Given the description of an element on the screen output the (x, y) to click on. 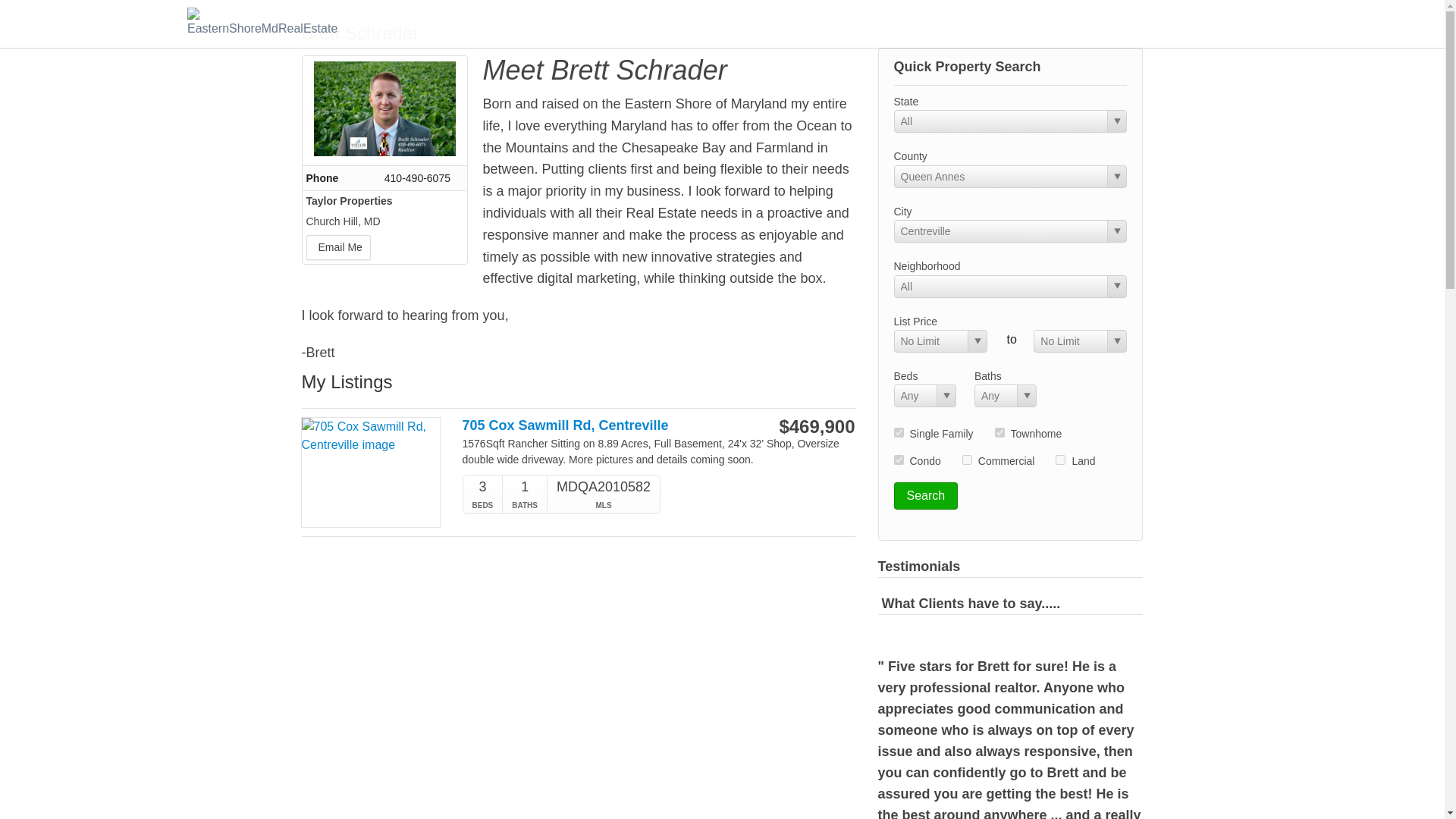
EasternShoreMdRealEstate.com (263, 23)
res (897, 432)
lnd (1060, 460)
com (967, 460)
con (897, 460)
705 Cox Sawmill Rd, Centreville (600, 425)
twn (999, 432)
Email Me (338, 247)
Search (925, 495)
